Given the description of an element on the screen output the (x, y) to click on. 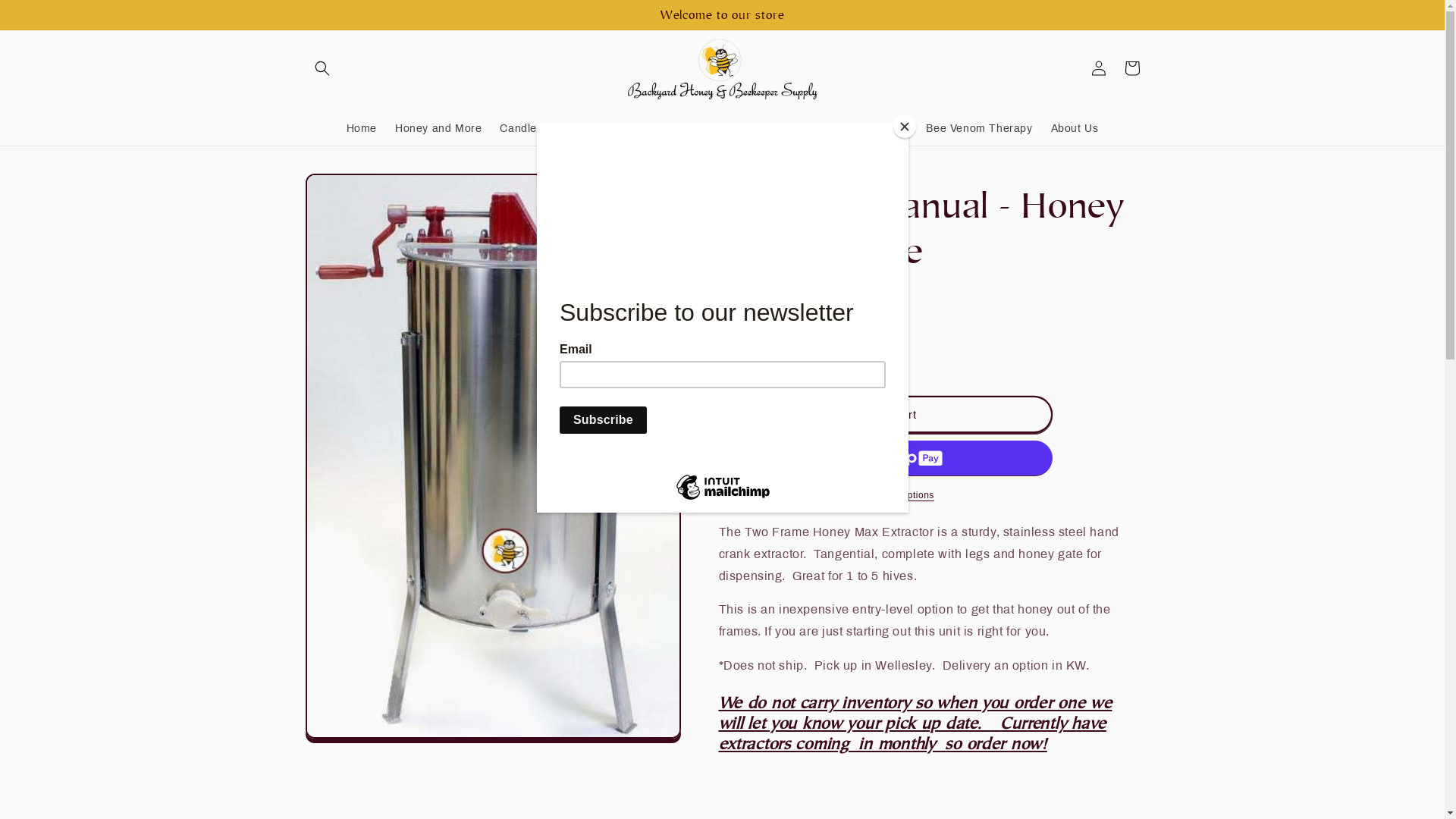
Add to cart Element type: text (885, 414)
Skip to product information Element type: text (351, 191)
Honey and More Element type: text (437, 128)
About Us Element type: text (1074, 128)
Candles Element type: text (520, 128)
Increase quantity for Extractor Manual - Honey Max 2 Frame Element type: text (808, 357)
Log in Element type: text (1097, 67)
Decrease quantity for Extractor Manual - Honey Max 2 Frame Element type: text (737, 357)
More payment options Element type: text (885, 494)
Bee Venom Therapy Element type: text (978, 128)
Cart Element type: text (1131, 67)
Home Element type: text (361, 128)
